Given the description of an element on the screen output the (x, y) to click on. 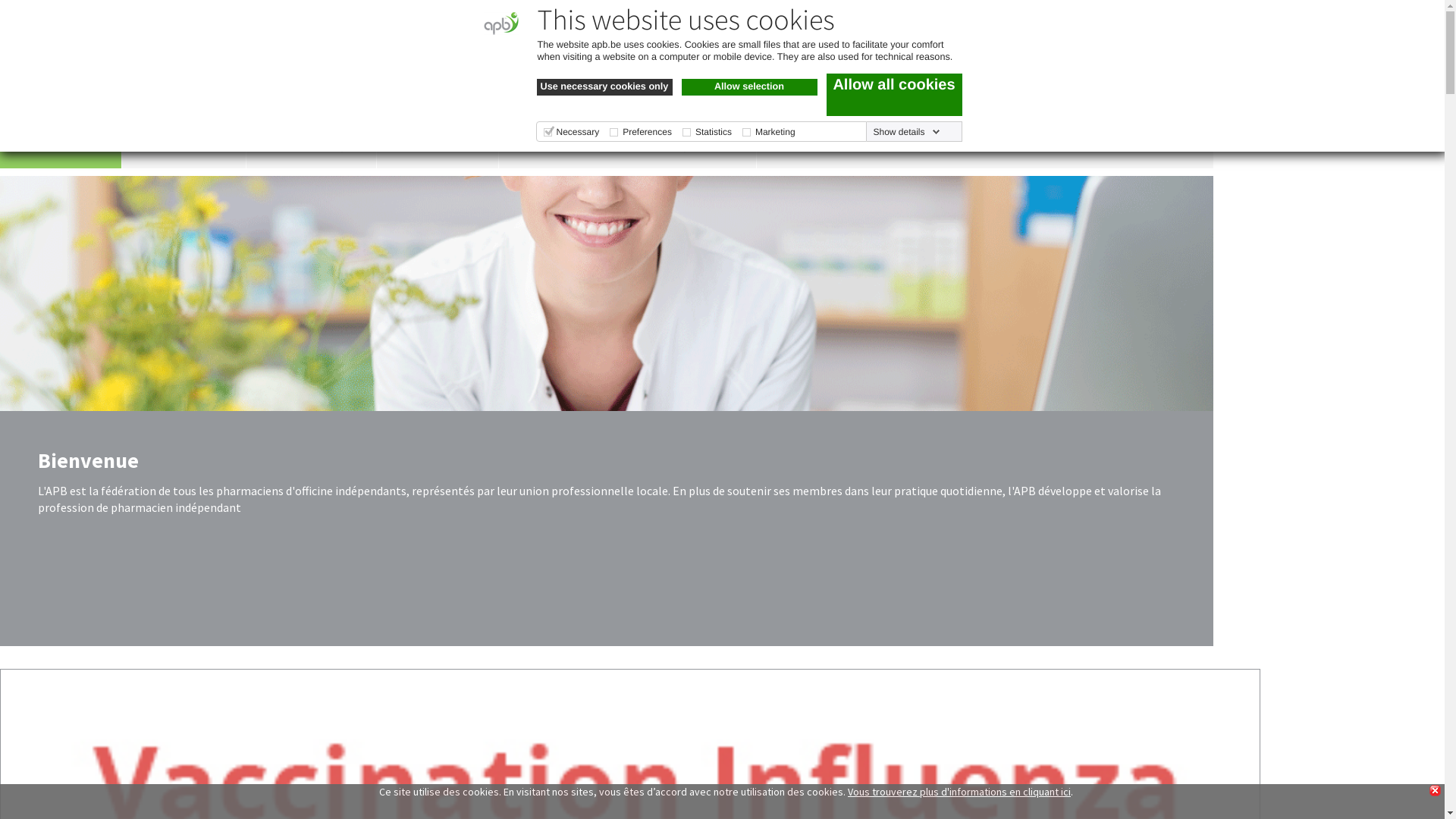
APB Element type: text (145, 67)
MEDIA ROOM Element type: text (437, 145)
Allow all cookies Element type: text (894, 94)
LE PHARMACIEN Element type: text (183, 145)
  Element type: text (1143, 73)
fr Element type: text (682, 74)
Qui sommes-nous Element type: text (398, 74)
nl Element type: text (710, 74)
L'ASSOCIATION PHARMACEUTIQUE BELGE Element type: text (627, 145)
SE CONNECTER Element type: text (1256, 23)
Vous trouverez plus d'informations en cliquant ici Element type: text (958, 791)
Use necessary cookies only Element type: text (604, 86)
Show details Element type: text (905, 131)
Fermer Element type: hover (1434, 790)
My APB Element type: text (512, 74)
Contact Element type: text (750, 72)
Allow selection Element type: text (748, 86)
HOME Element type: text (59, 145)
